Given the description of an element on the screen output the (x, y) to click on. 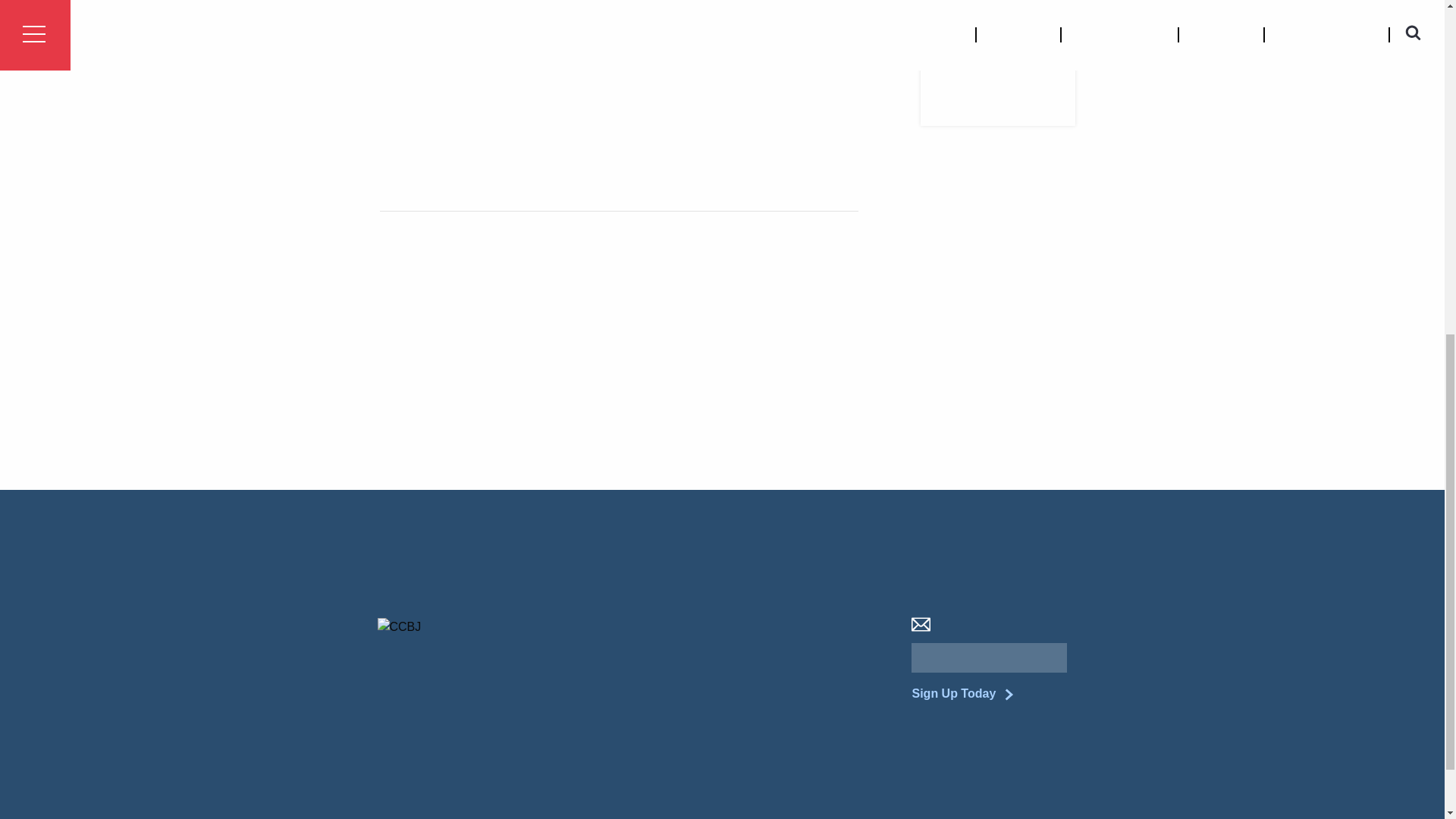
Sign Up Today (956, 693)
